Given the description of an element on the screen output the (x, y) to click on. 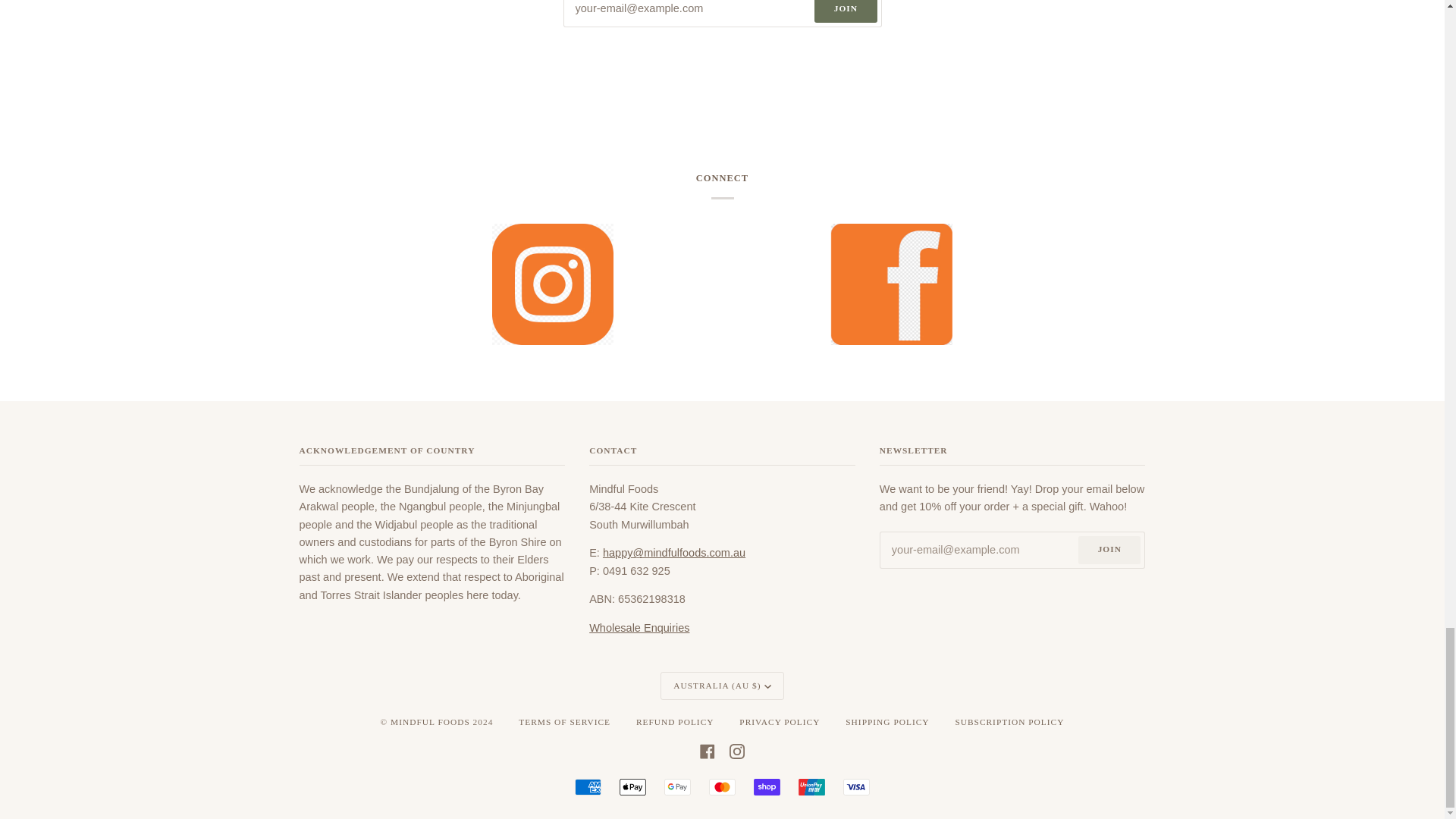
AMERICAN EXPRESS (588, 786)
VISA (856, 786)
APPLE PAY (633, 786)
MASTERCARD (722, 786)
SHOP PAY (767, 786)
GOOGLE PAY (676, 786)
Instagram (736, 751)
Facebook (707, 751)
The Byron Co-op Wholesale Enquiries (638, 627)
UNION PAY (811, 786)
